Given the description of an element on the screen output the (x, y) to click on. 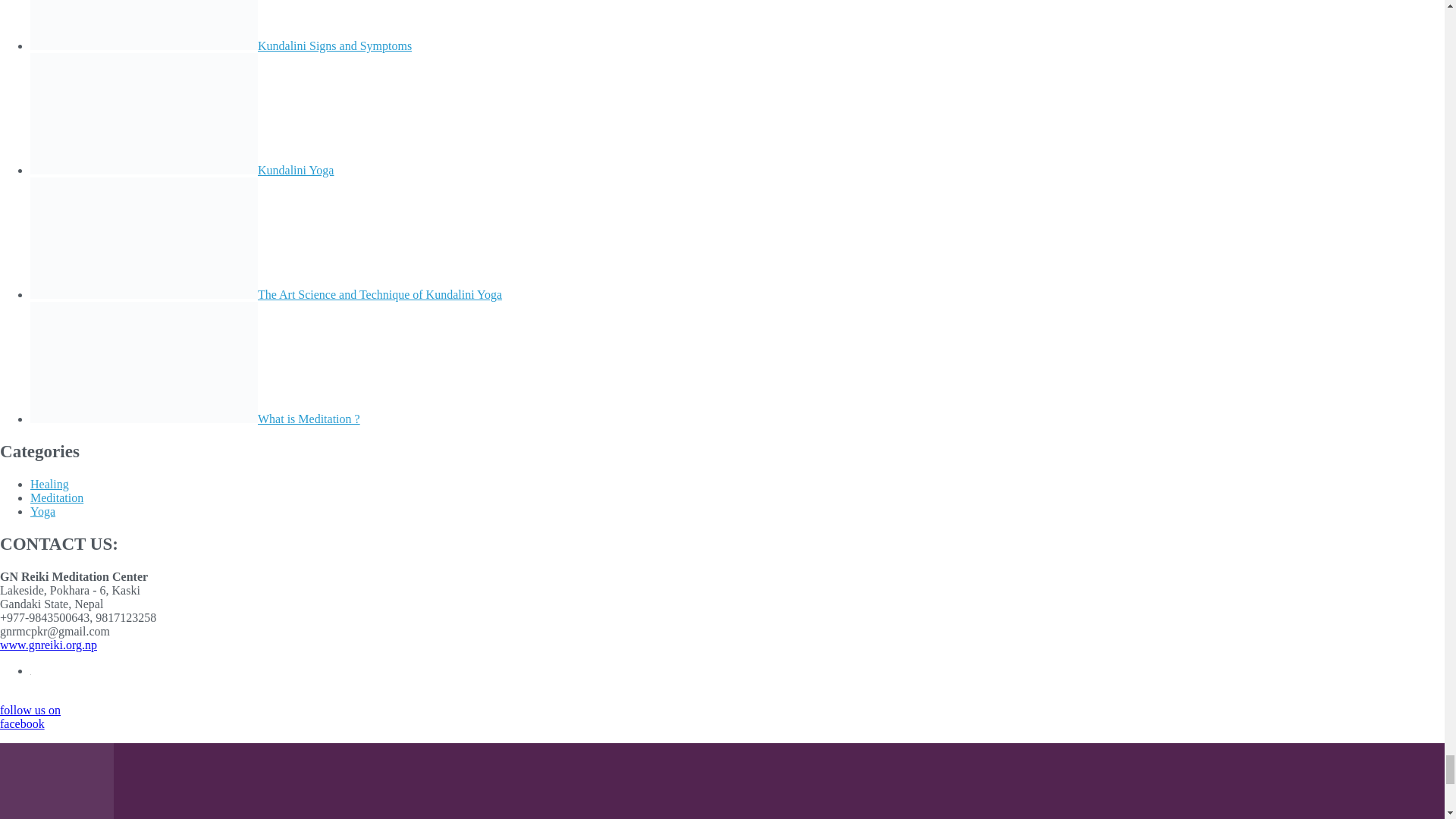
Permalink to What is Meditation ? (308, 418)
Permalink to Kundalini Yoga (295, 169)
Permalink to The Art Science and Technique of Kundalini Yoga (379, 294)
Permalink to Kundalini Signs and Symptoms (334, 45)
